Given the description of an element on the screen output the (x, y) to click on. 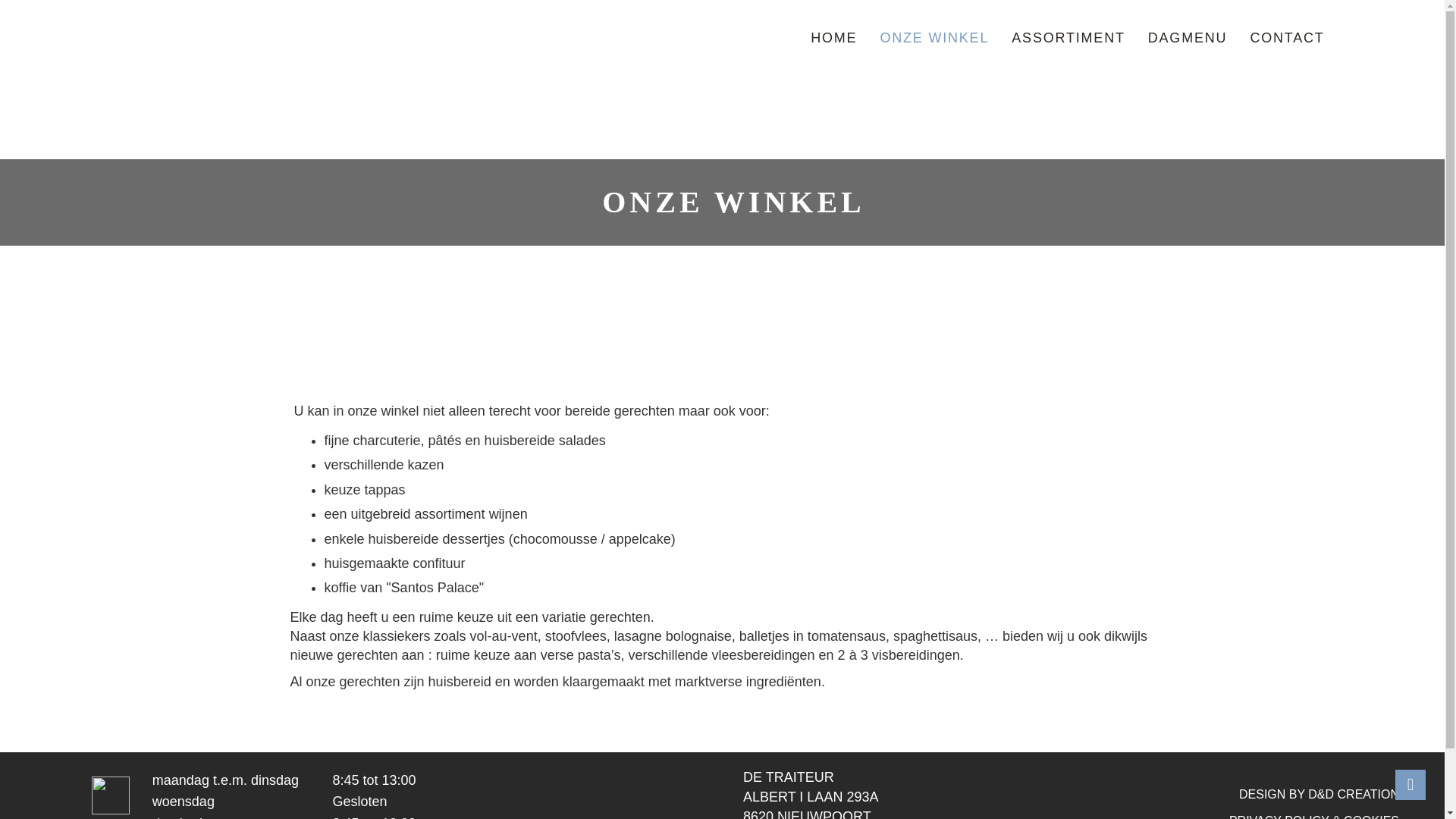
HOME Element type: text (833, 37)
Go to Top Element type: hover (1410, 784)
ONZE WINKEL Element type: text (933, 37)
DESIGN BY D&D CREATION Element type: text (1319, 793)
ASSORTIMENT Element type: text (1067, 37)
CONTACT Element type: text (1286, 37)
DAGMENU Element type: text (1187, 37)
